Given the description of an element on the screen output the (x, y) to click on. 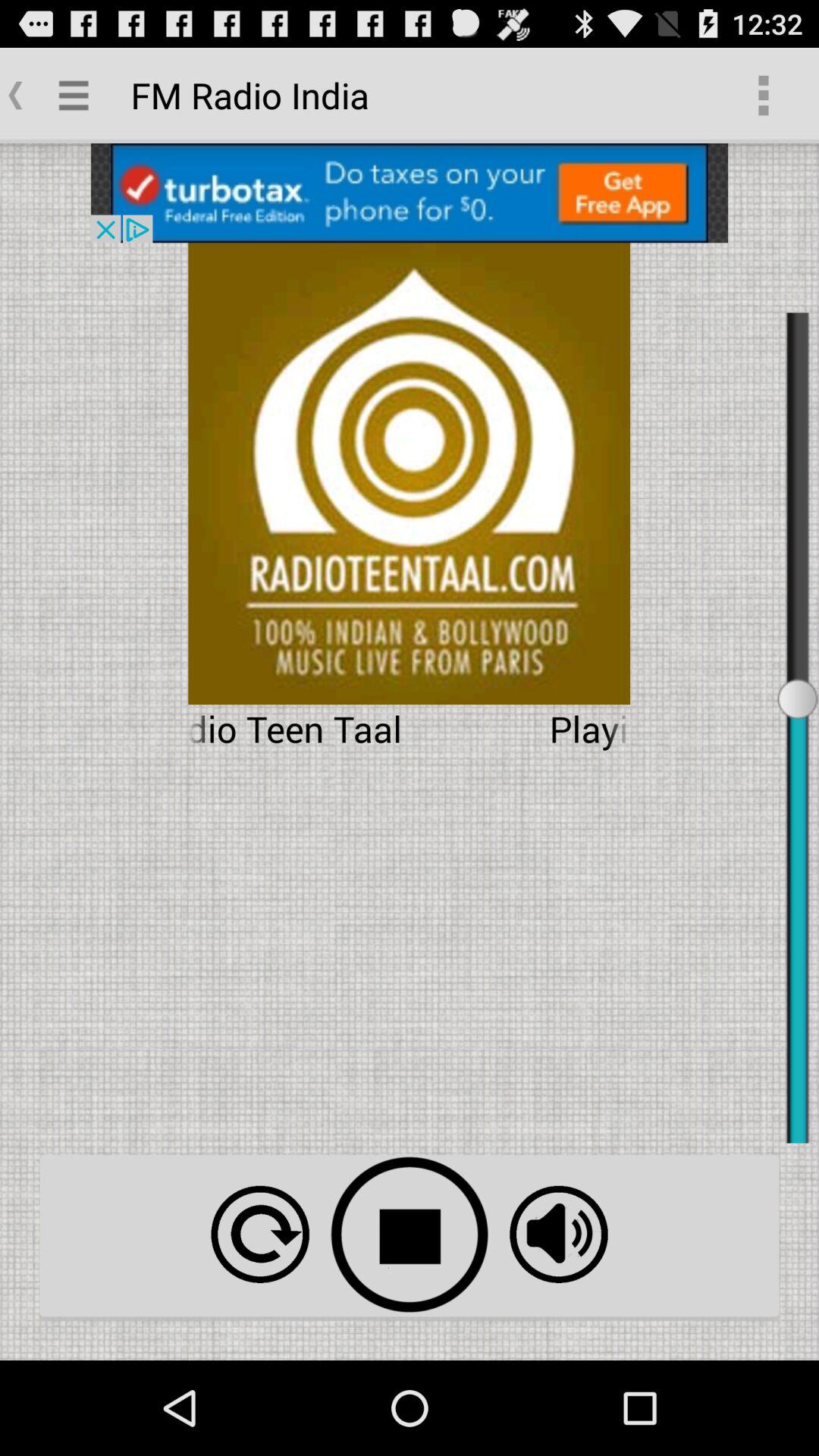
change volume levels (558, 1234)
